Given the description of an element on the screen output the (x, y) to click on. 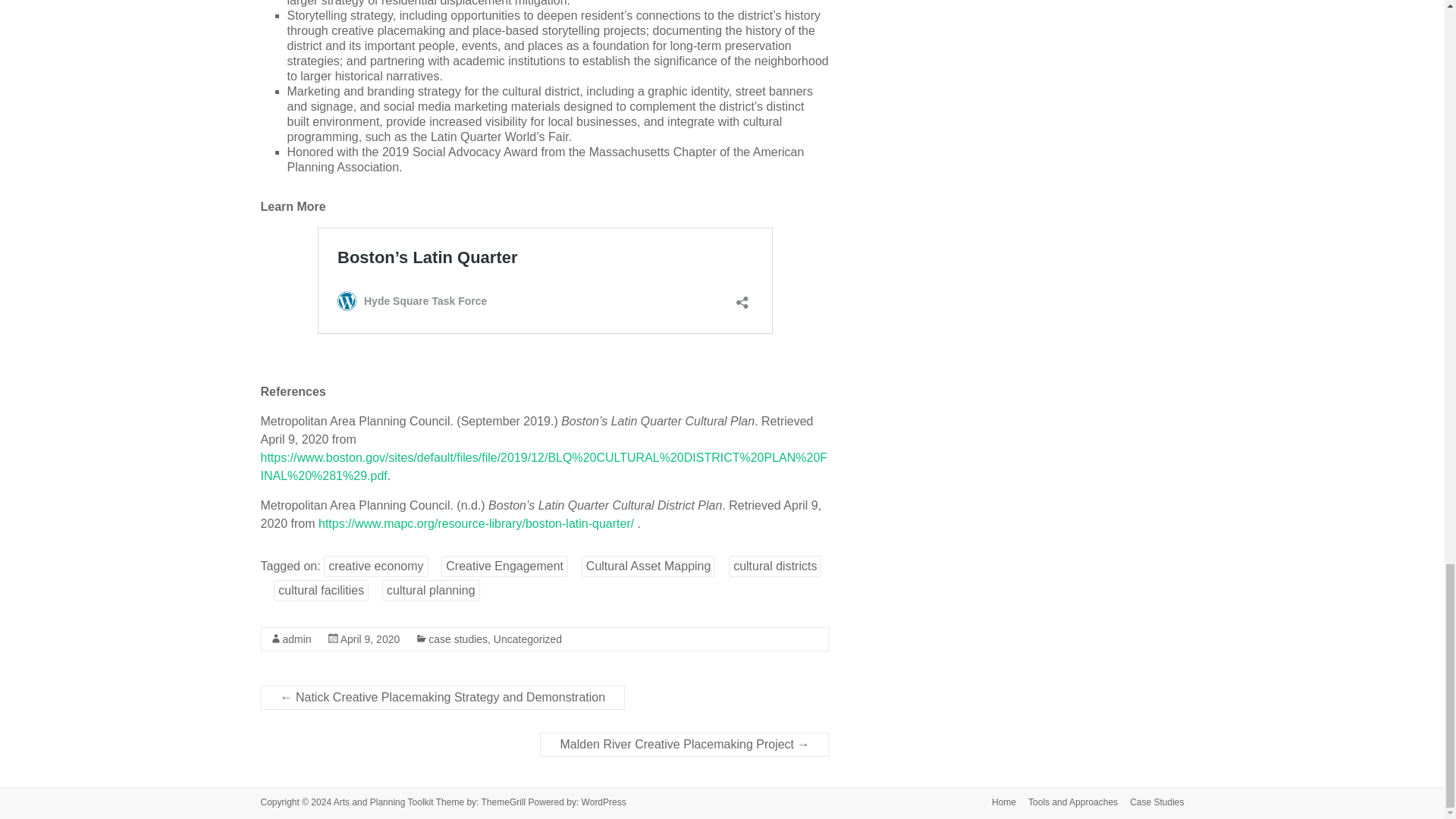
Creative Engagement (504, 566)
Arts and Planning Toolkit (383, 801)
creative economy (375, 566)
ThemeGrill (503, 801)
Case Studies (1150, 803)
Arts and Planning Toolkit (383, 801)
admin (296, 639)
case studies (457, 639)
Uncategorized (527, 639)
cultural districts (775, 566)
ThemeGrill (503, 801)
Tools and Approaches (1067, 803)
cultural planning (430, 590)
WordPress (603, 801)
April 9, 2020 (370, 639)
